Given the description of an element on the screen output the (x, y) to click on. 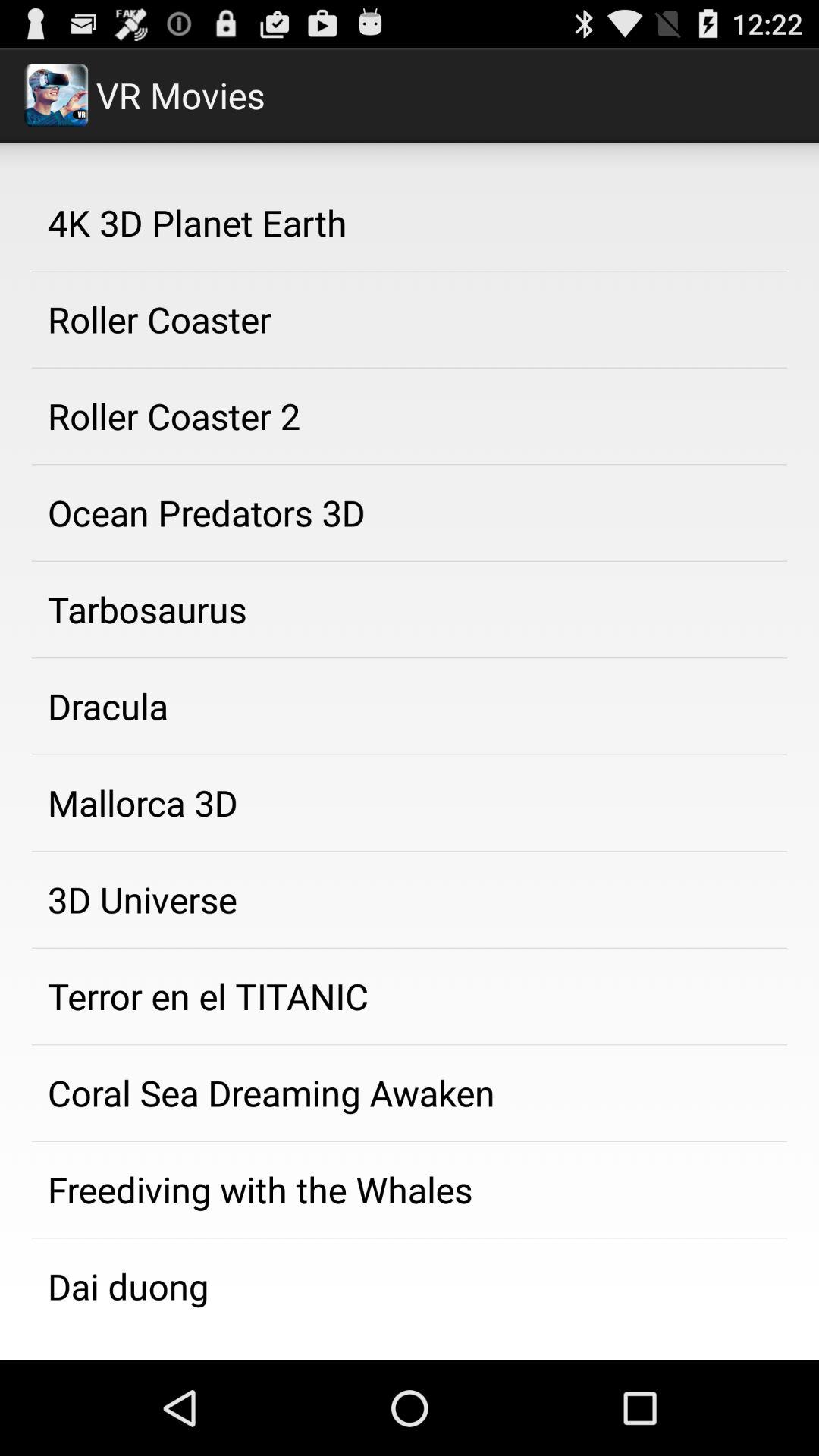
turn on item below terror en el (409, 1092)
